Given the description of an element on the screen output the (x, y) to click on. 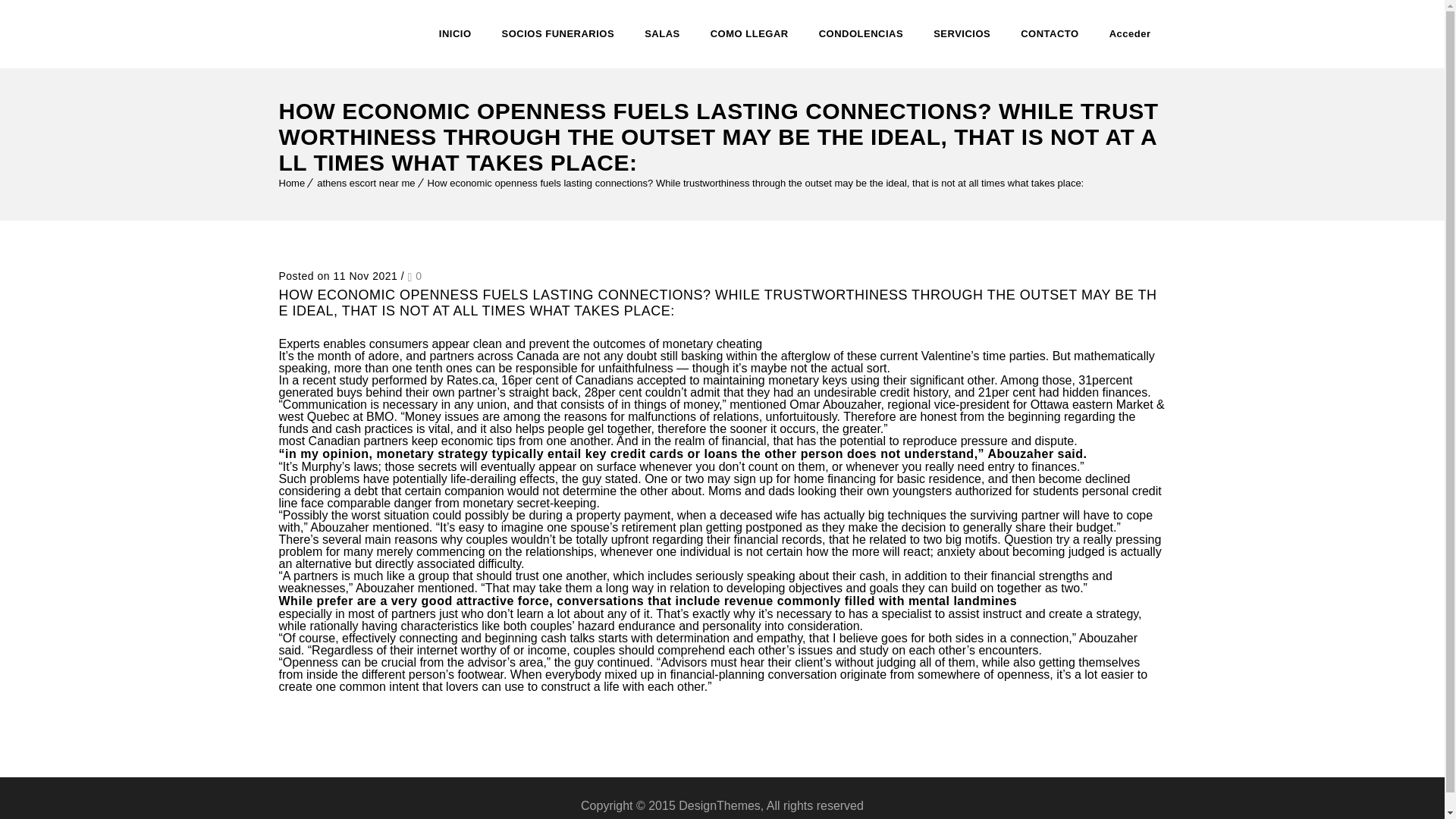
SOCIOS FUNERARIOS (558, 33)
TANATORIO-CREMATORIO  AS BURGAS (333, 33)
CONDOLENCIAS (860, 33)
TANATORIO-CREMATORIO  AS BURGAS (333, 34)
Home (292, 183)
athens escort near me (365, 183)
COMO LLEGAR (749, 33)
0 (414, 275)
